Given the description of an element on the screen output the (x, y) to click on. 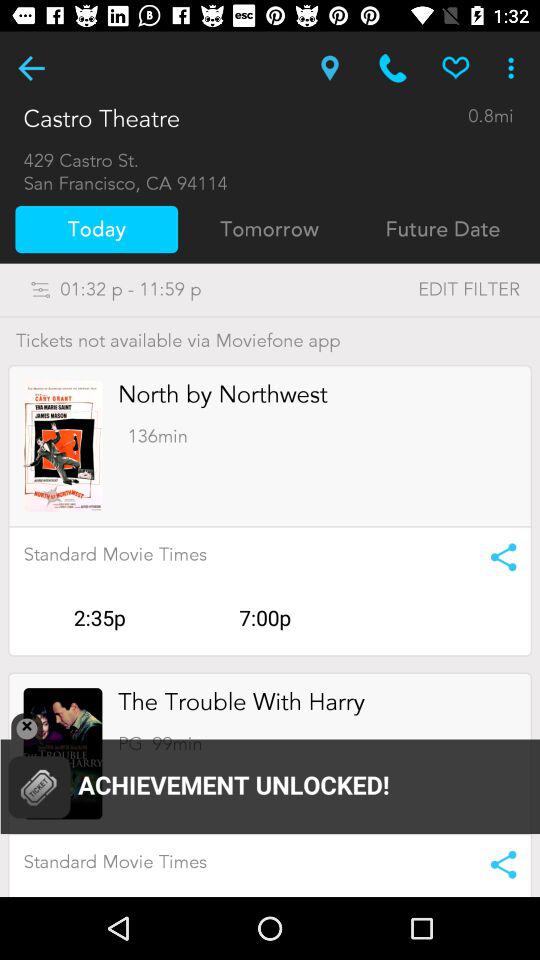
go to the previous page (31, 67)
